Given the description of an element on the screen output the (x, y) to click on. 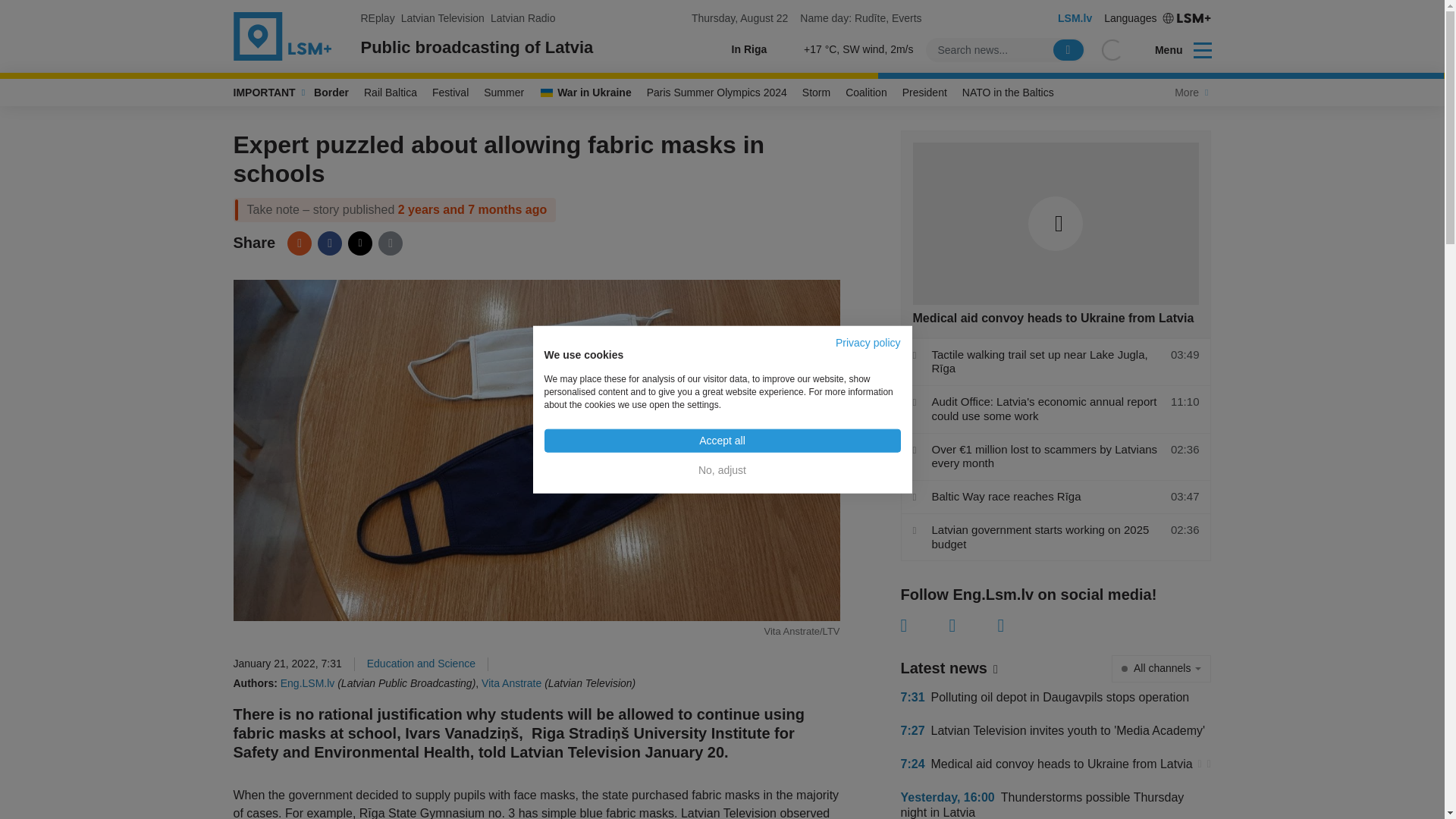
More (1189, 92)
War in Ukraine (585, 92)
Border (330, 92)
Rail Baltica (390, 92)
Facebook (329, 242)
Coalition (865, 92)
X (973, 625)
REplay (377, 18)
Menu (1173, 50)
Latvian Television (442, 18)
